Given the description of an element on the screen output the (x, y) to click on. 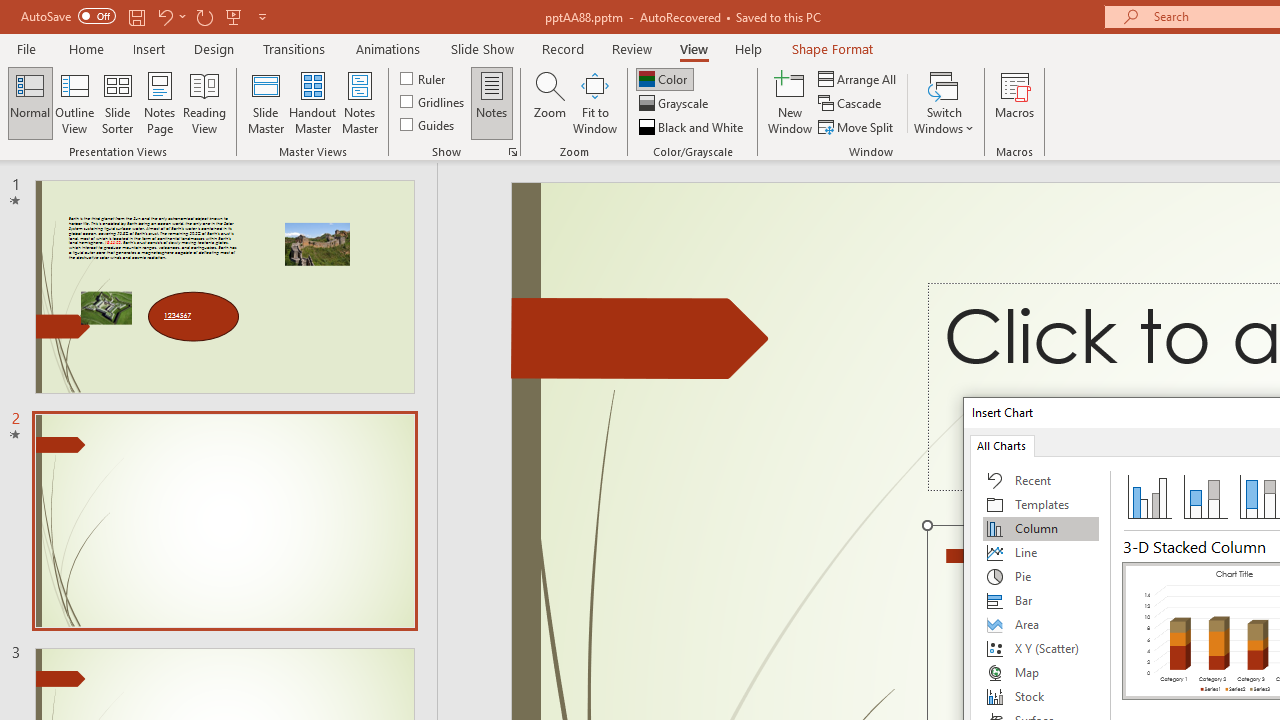
X Y (Scatter) (1041, 648)
